Given the description of an element on the screen output the (x, y) to click on. 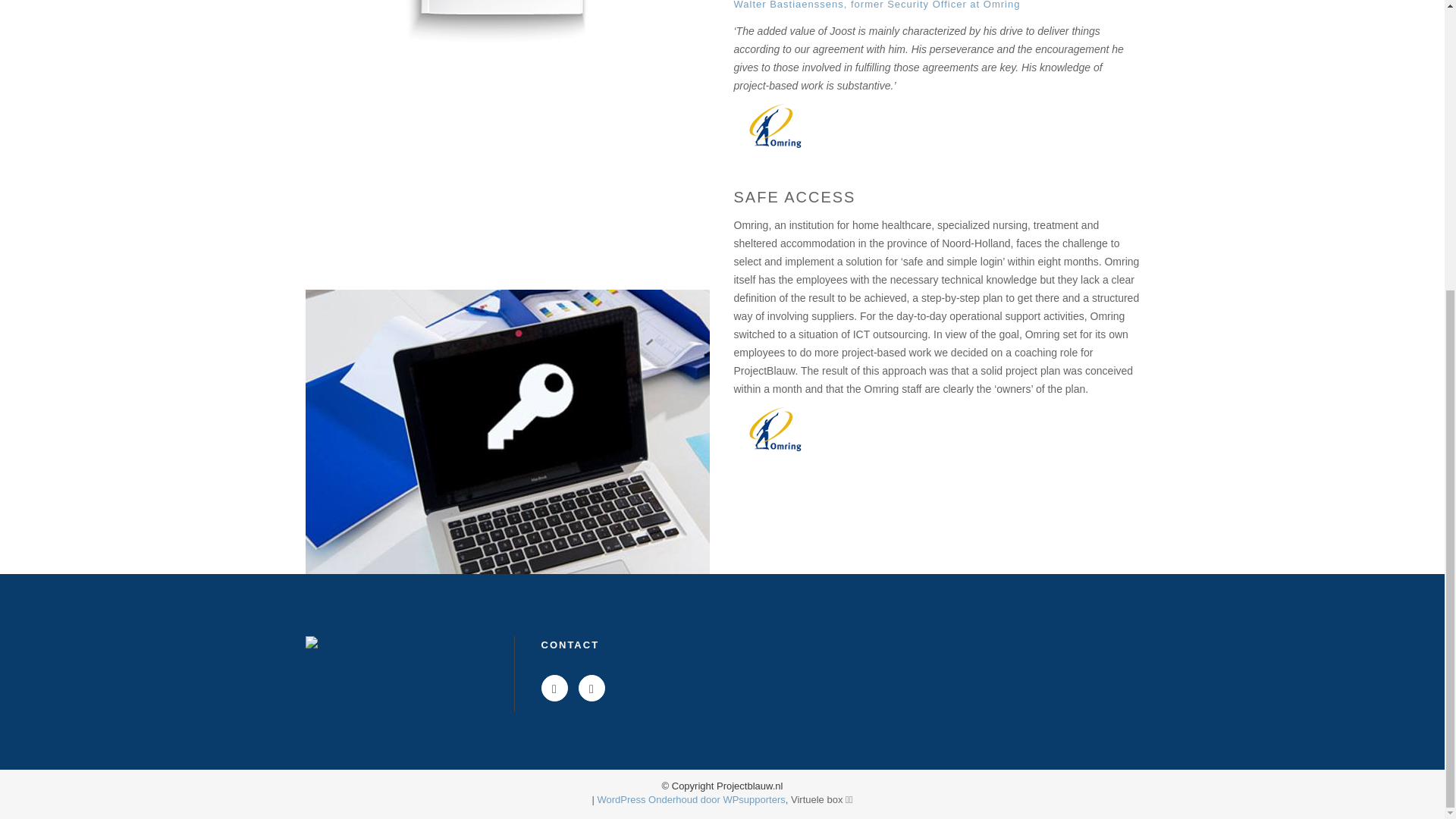
logo omring orgi web (774, 429)
duty-of-report (506, 24)
image-privacybeleid (506, 431)
logo omring orgi web (774, 126)
